Given the description of an element on the screen output the (x, y) to click on. 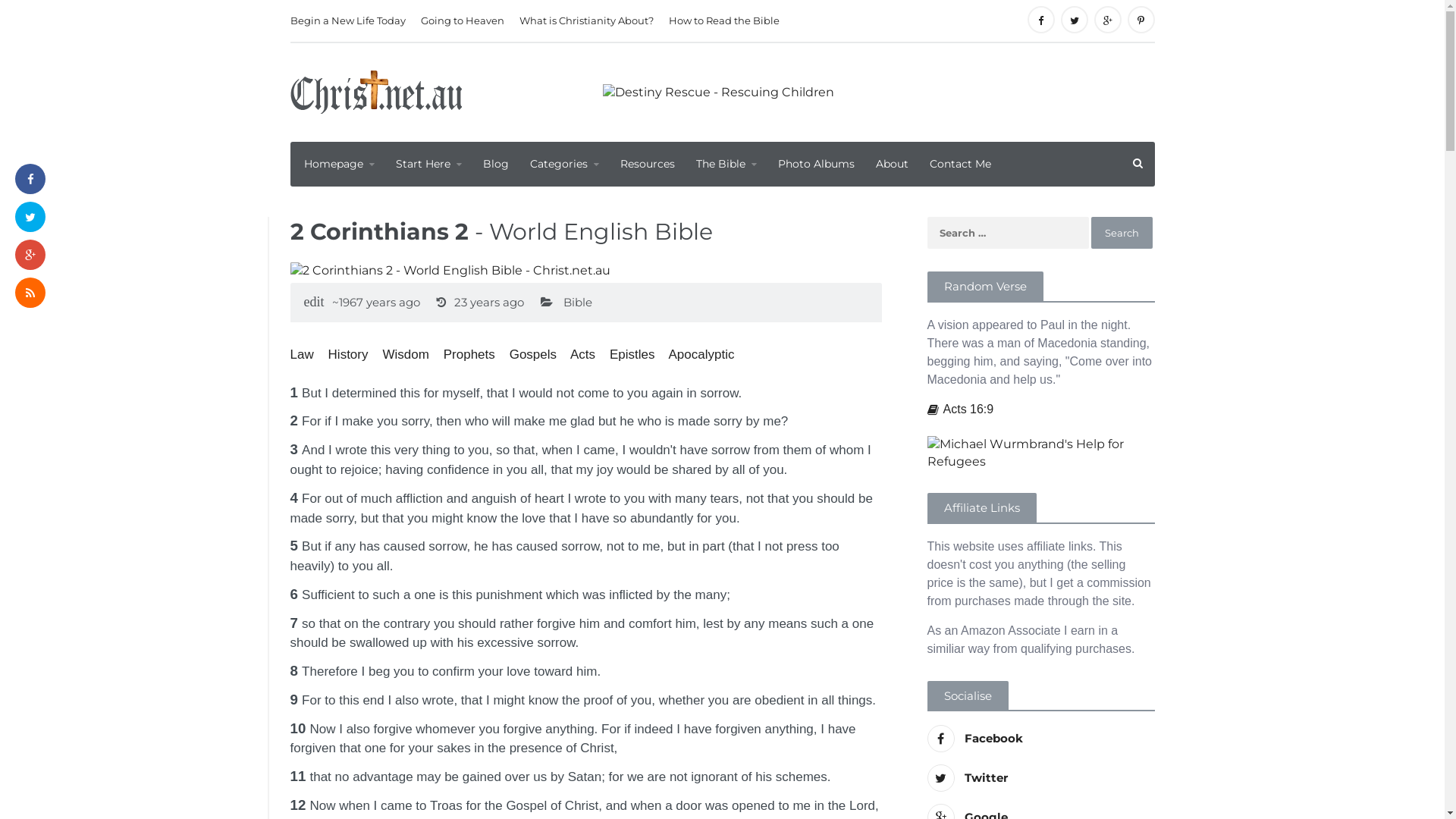
Homepage Element type: text (336, 163)
Random Verse Element type: text (984, 286)
The Bible Element type: text (726, 163)
Search for: Element type: hover (1007, 232)
Start Here Element type: text (428, 163)
Facebook Element type: text (1040, 738)
Prophets Element type: text (469, 354)
Christ.net.au Homepage Element type: hover (375, 91)
Search Element type: text (1120, 232)
2 Corinthians 2 - World English Bible - Christ.net.au Element type: hover (449, 270)
Epistles Element type: text (632, 354)
What is Christianity About? Element type: text (585, 20)
History Element type: text (348, 354)
Begin a New Life Today Element type: text (350, 20)
Twitter Element type: text (1040, 777)
Acts Element type: text (582, 354)
Affiliate Links Element type: text (981, 507)
Resources Element type: text (647, 163)
Going to Heaven Element type: text (461, 20)
Destiny Rescue - Rescuing Children Element type: hover (717, 92)
How to Read the Bible Element type: text (724, 20)
Categories Element type: text (563, 163)
Wisdom Element type: text (405, 354)
Michael Wurmbrand's Help for Refugees Element type: hover (1040, 453)
Photo Albums Element type: text (816, 163)
About Element type: text (891, 163)
Bible Element type: text (576, 301)
Apocalyptic Element type: text (701, 354)
Contact Me Element type: text (960, 163)
 Acts 16:9 Element type: text (959, 408)
Blog Element type: text (494, 163)
Law Element type: text (301, 354)
Gospels Element type: text (532, 354)
